Given the description of an element on the screen output the (x, y) to click on. 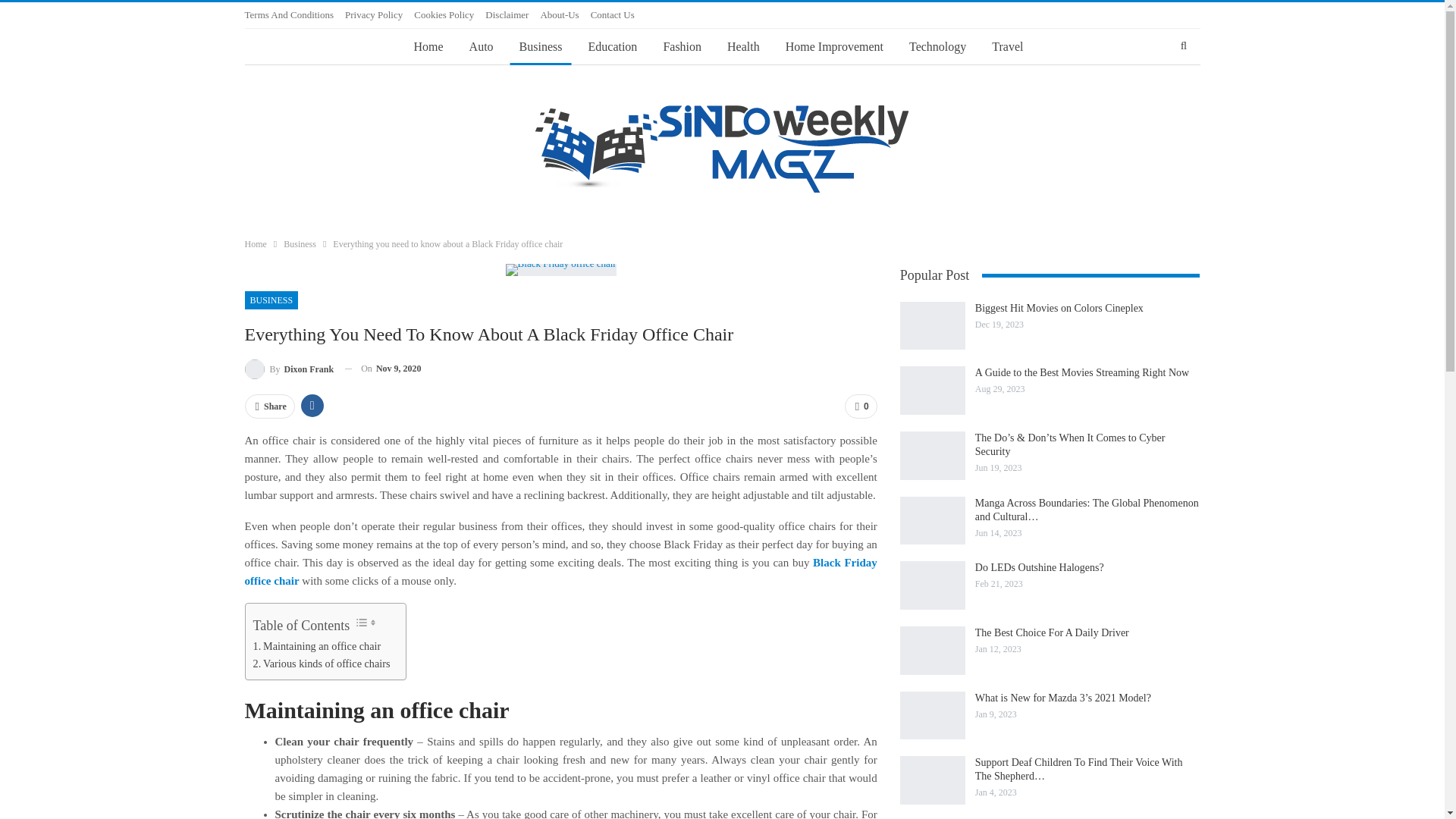
Health (742, 46)
Auto (481, 46)
Home (427, 46)
Technology (937, 46)
By Dixon Frank (288, 368)
About-Us (559, 14)
Contact Us (612, 14)
Business (299, 243)
Various kinds of office chairs (321, 663)
0 (860, 405)
Terms And Conditions (288, 14)
Privacy Policy (374, 14)
Maintaining an office chair (317, 646)
Travel (1007, 46)
Fashion (681, 46)
